Given the description of an element on the screen output the (x, y) to click on. 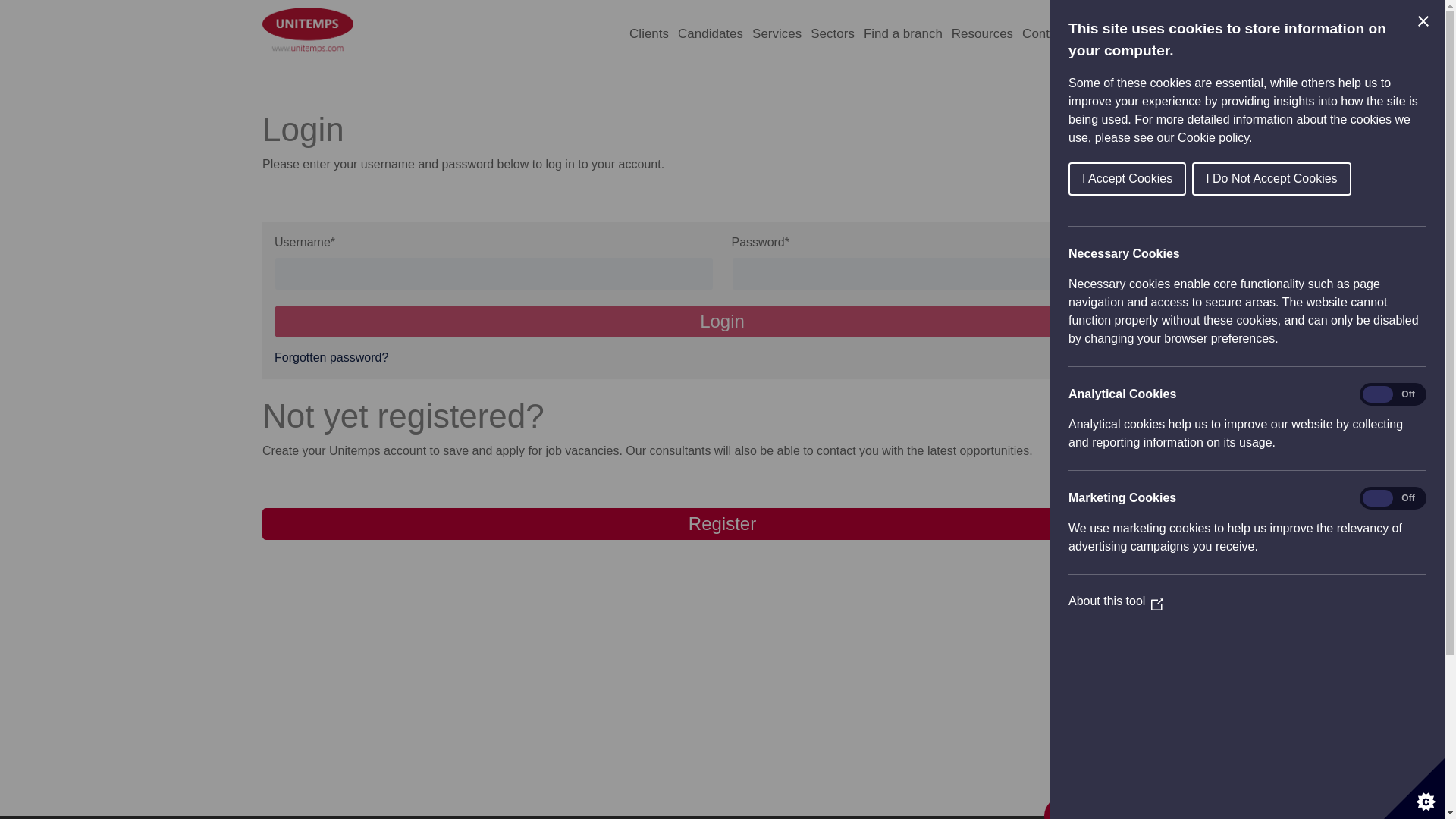
Clients (648, 37)
Clients (648, 37)
Sectors (832, 37)
Login (722, 321)
Contact us (1052, 37)
I Accept Cookies (1360, 178)
Services (777, 37)
Find a branch (902, 37)
Contact us (1052, 37)
Find a branch (902, 37)
